Given the description of an element on the screen output the (x, y) to click on. 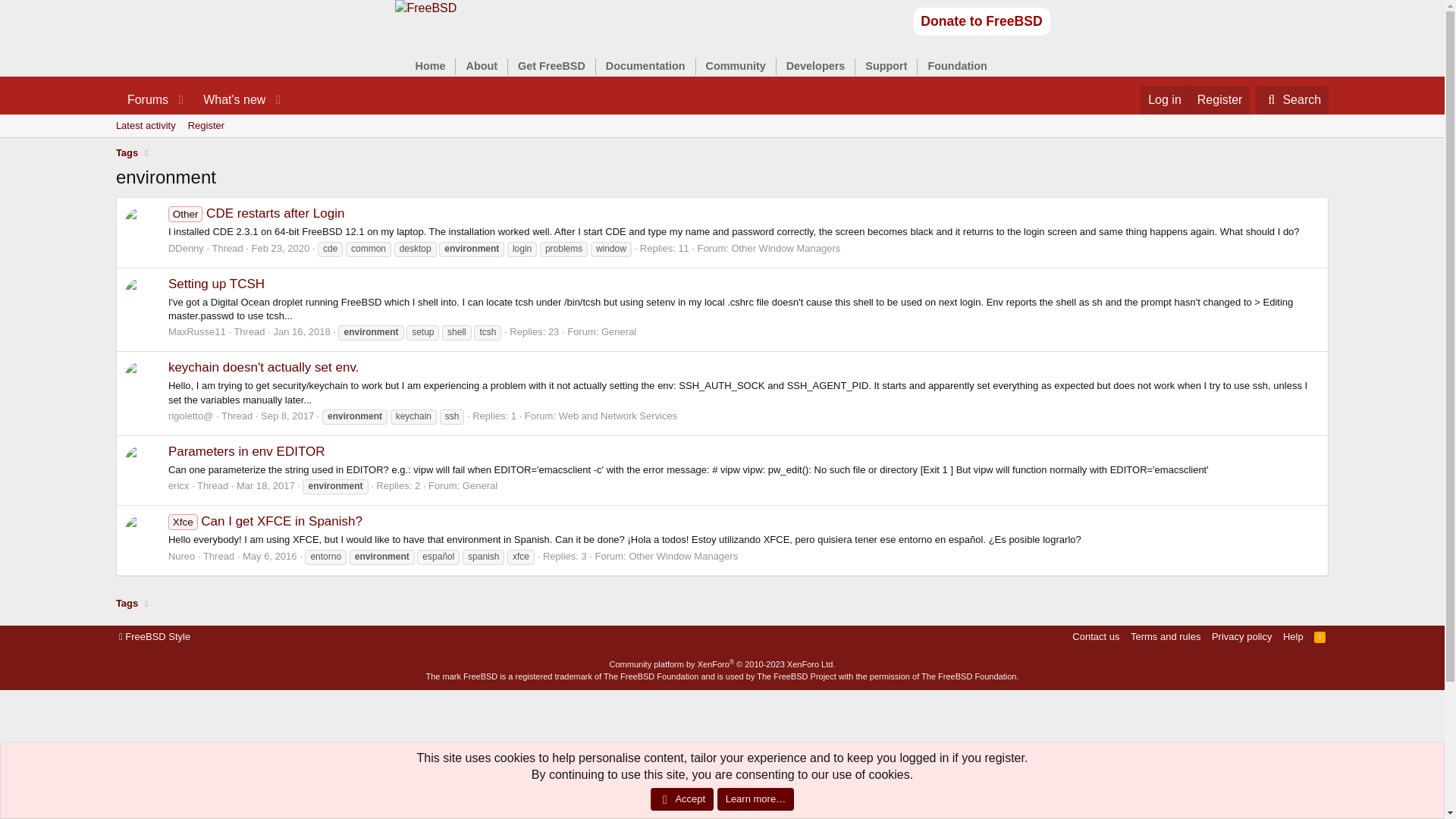
Documentation (645, 64)
Mar 18, 2017 at 11:38 PM (265, 485)
Support (885, 64)
RSS (722, 125)
Home (1319, 636)
Style chooser (429, 64)
Feb 23, 2020 at 2:51 PM (154, 636)
FreeBSD (280, 247)
May 6, 2016 at 8:25 PM (425, 7)
